Given the description of an element on the screen output the (x, y) to click on. 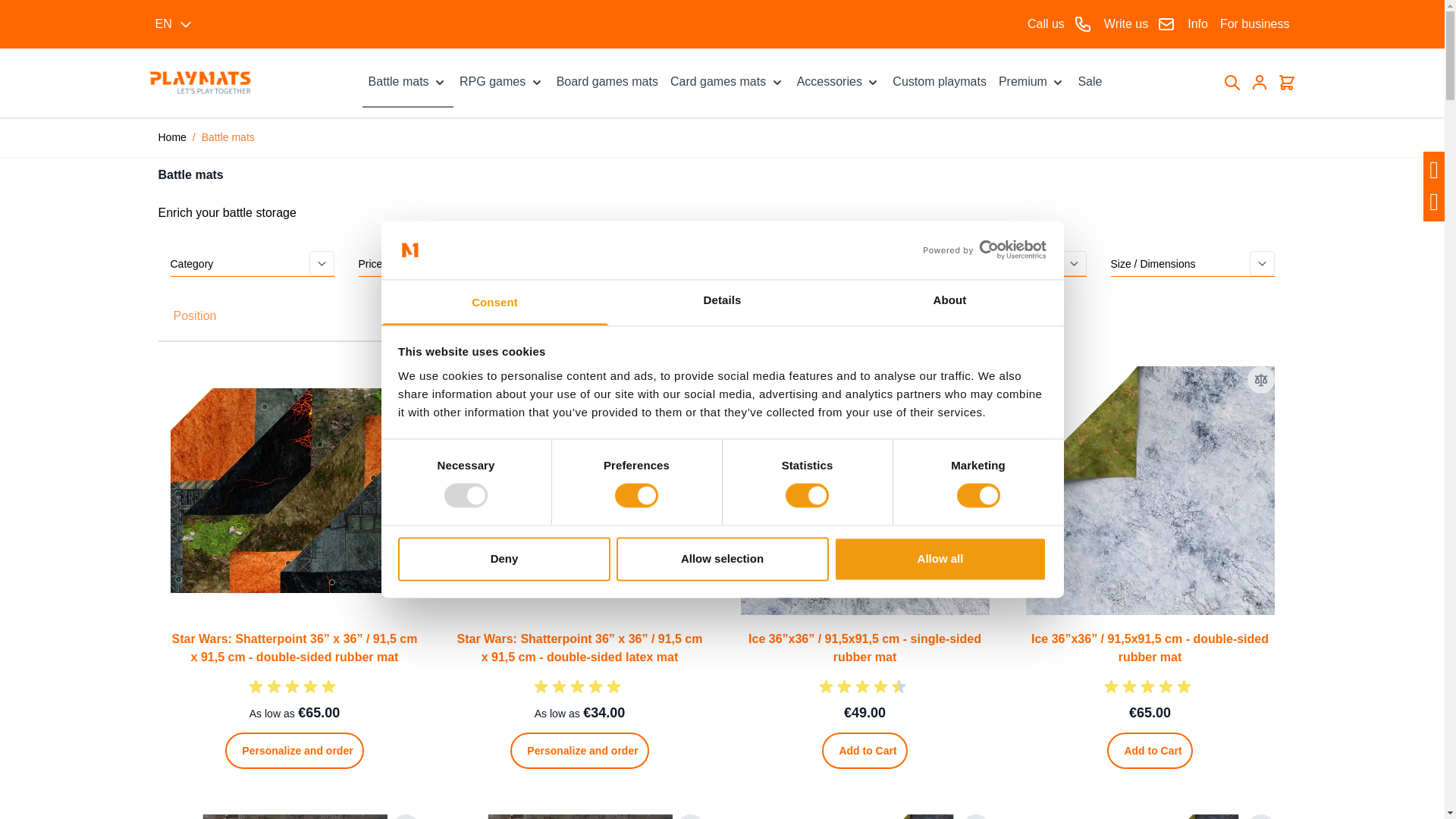
chevron-down (872, 82)
Manufacturer of playmats and accessories - Playmats (199, 82)
Consent (494, 302)
chevron-down (777, 82)
About (948, 302)
chevron-down (536, 82)
Details (721, 302)
chevron-down (1057, 82)
chevron-down (439, 82)
